Given the description of an element on the screen output the (x, y) to click on. 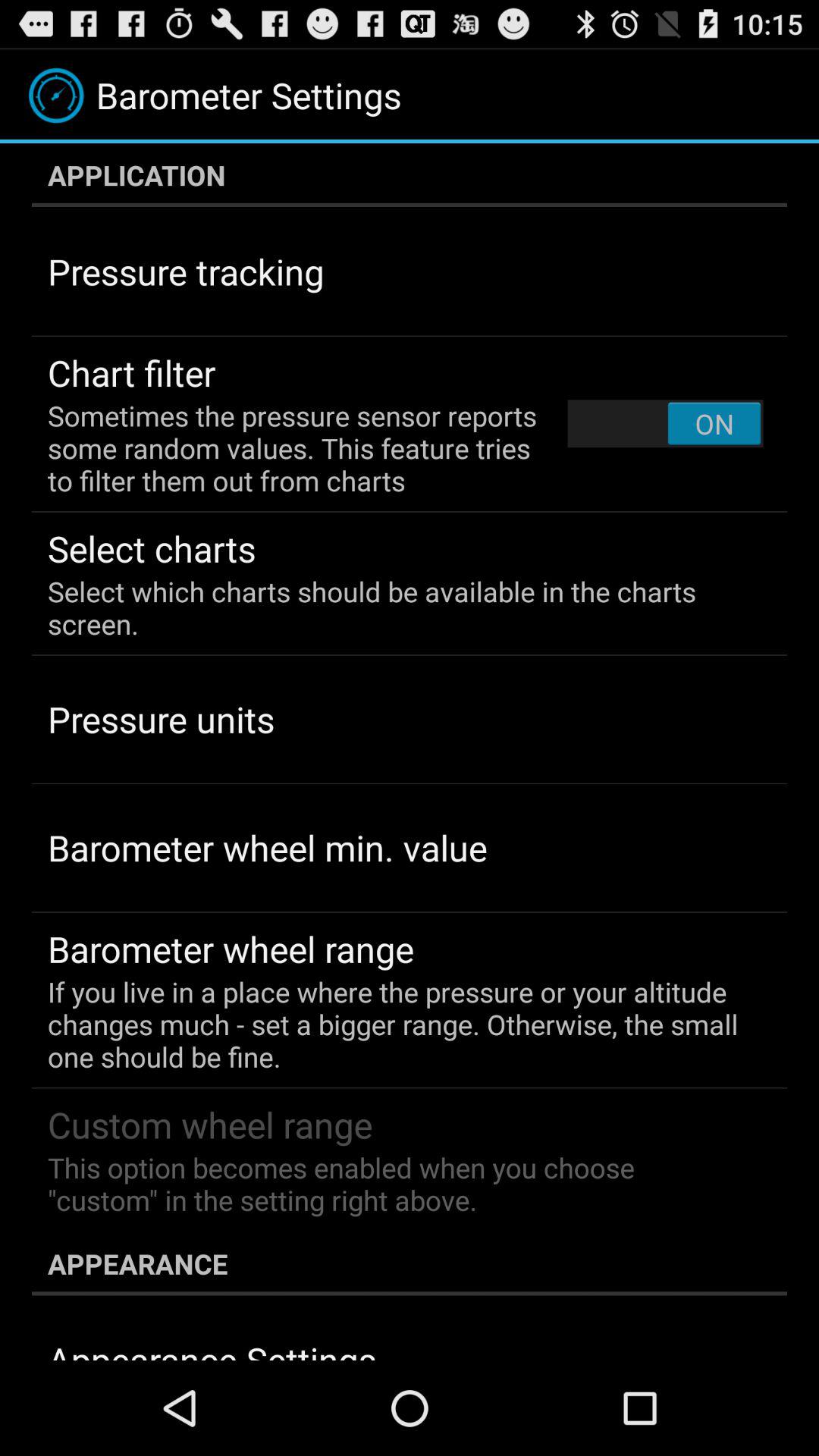
open the item above the select which charts app (665, 423)
